Given the description of an element on the screen output the (x, y) to click on. 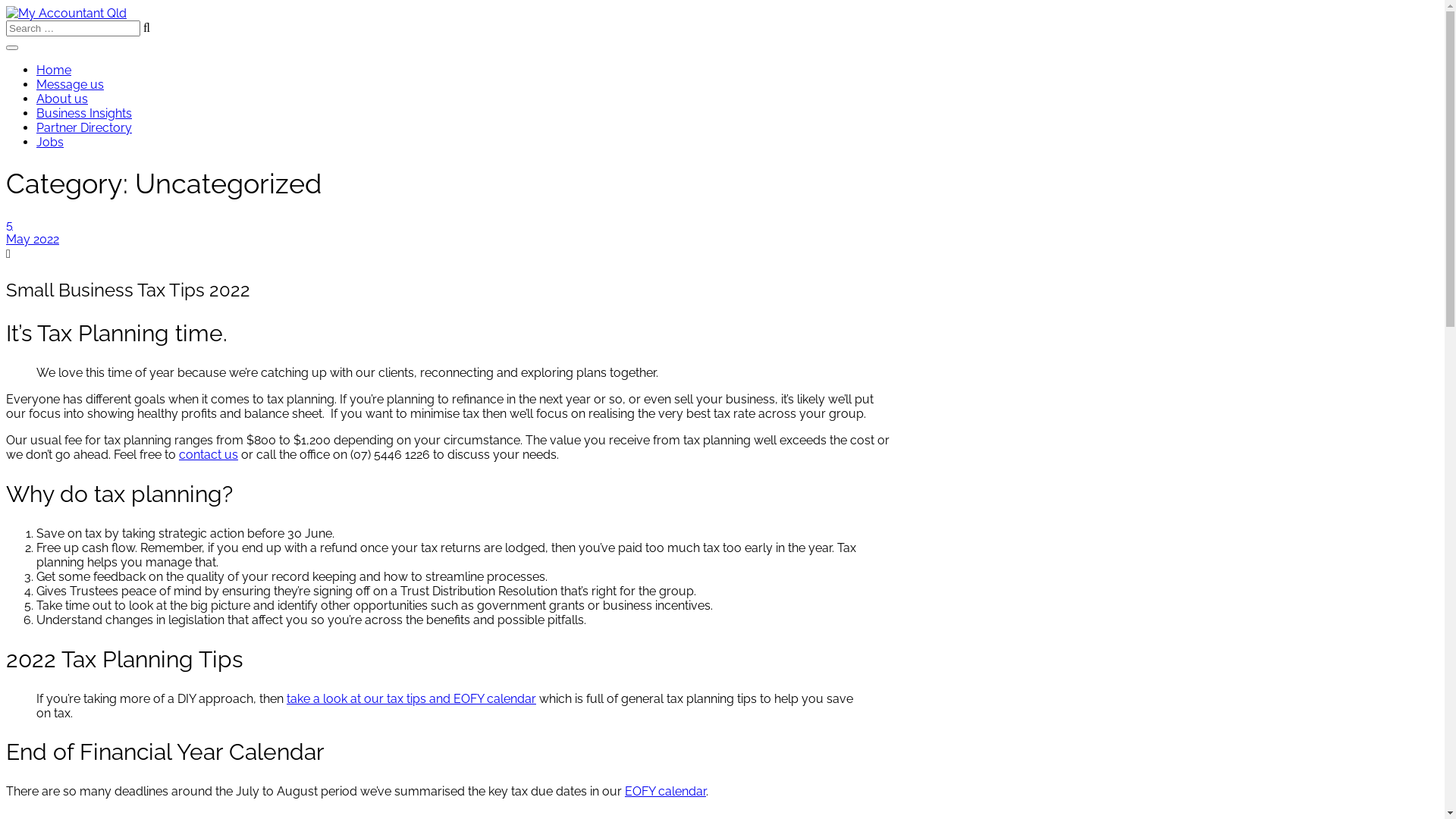
Business Insights Element type: text (83, 113)
contact us Element type: text (208, 454)
My Accountant Qld Element type: hover (66, 13)
Partner Directory Element type: text (83, 127)
take a look at our tax tips and EOFY calendar Element type: text (411, 698)
Message us Element type: text (69, 84)
5
May 2022 Element type: text (449, 231)
About us Element type: text (61, 98)
Home Element type: text (53, 69)
EOFY calendar Element type: text (665, 791)
Jobs Element type: text (49, 141)
